Given the description of an element on the screen output the (x, y) to click on. 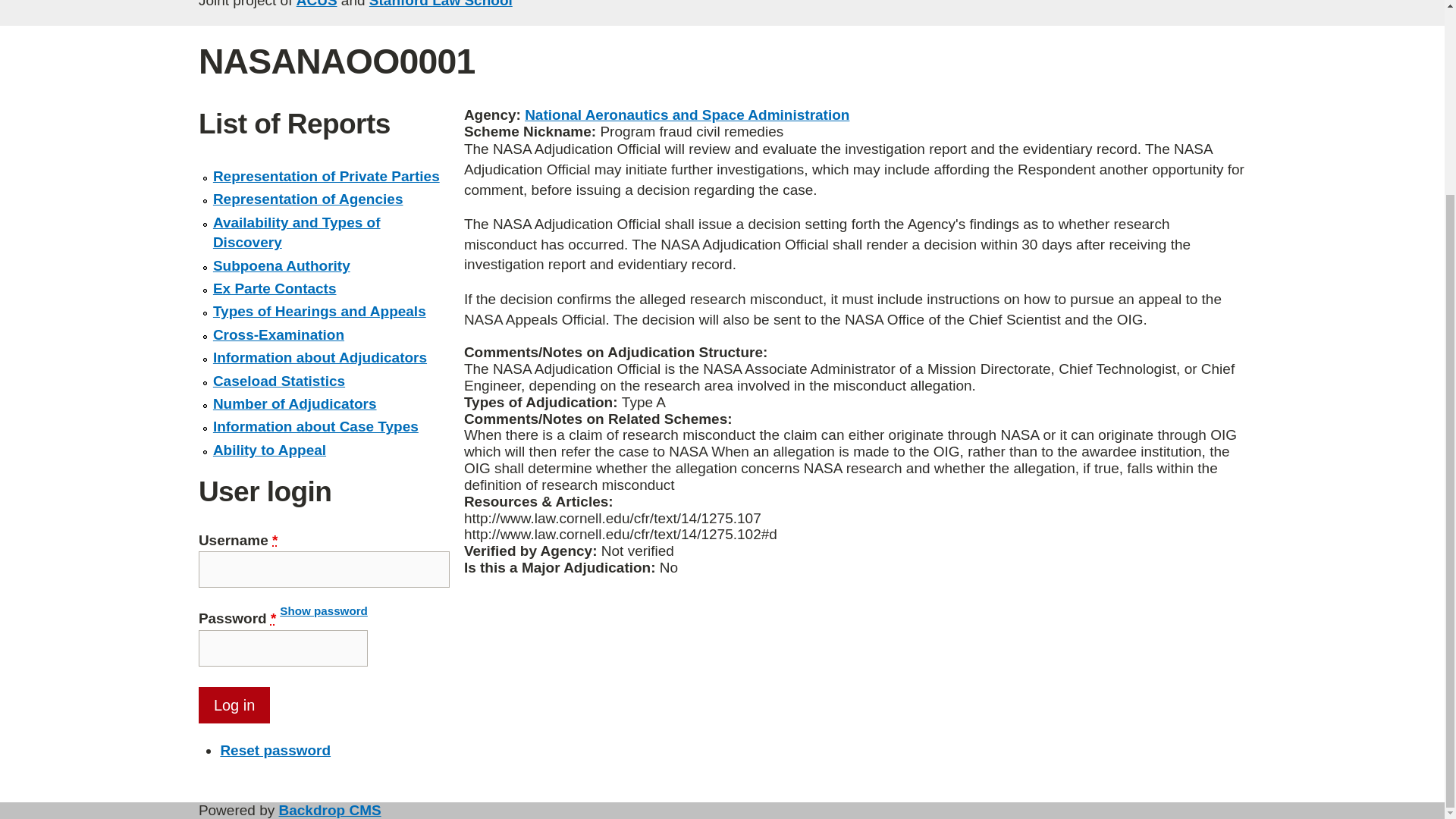
Cross-Examination (277, 334)
Backdrop CMS (330, 810)
Information about Adjudicators (319, 357)
National Aeronautics and Space Administration (686, 114)
Representation of Agencies (307, 198)
Log in (234, 705)
Caseload Statistics (278, 381)
ACUS (317, 4)
Reset password (274, 750)
Information about Case Types (315, 426)
